Given the description of an element on the screen output the (x, y) to click on. 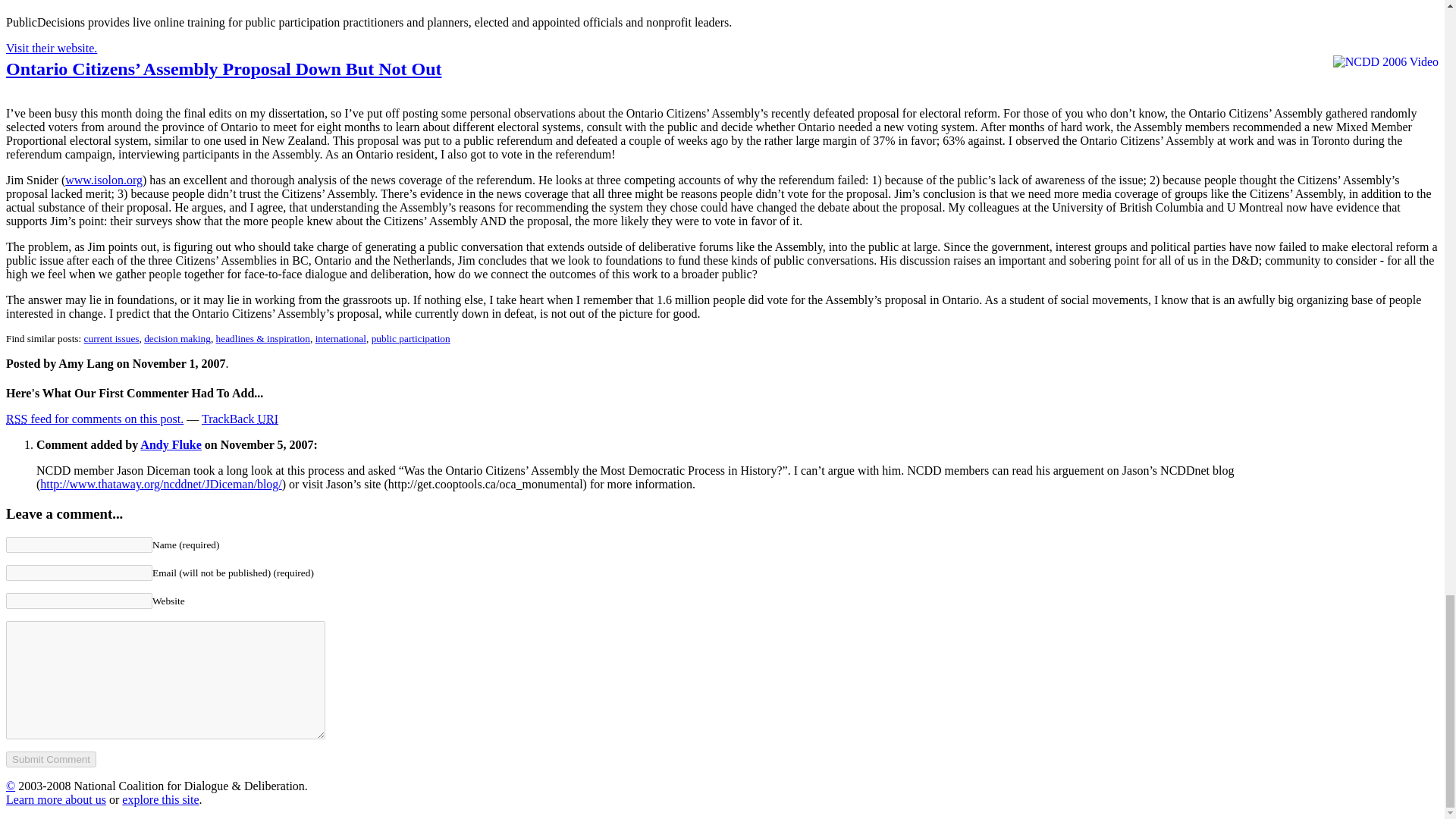
Submit Comment (50, 759)
